Given the description of an element on the screen output the (x, y) to click on. 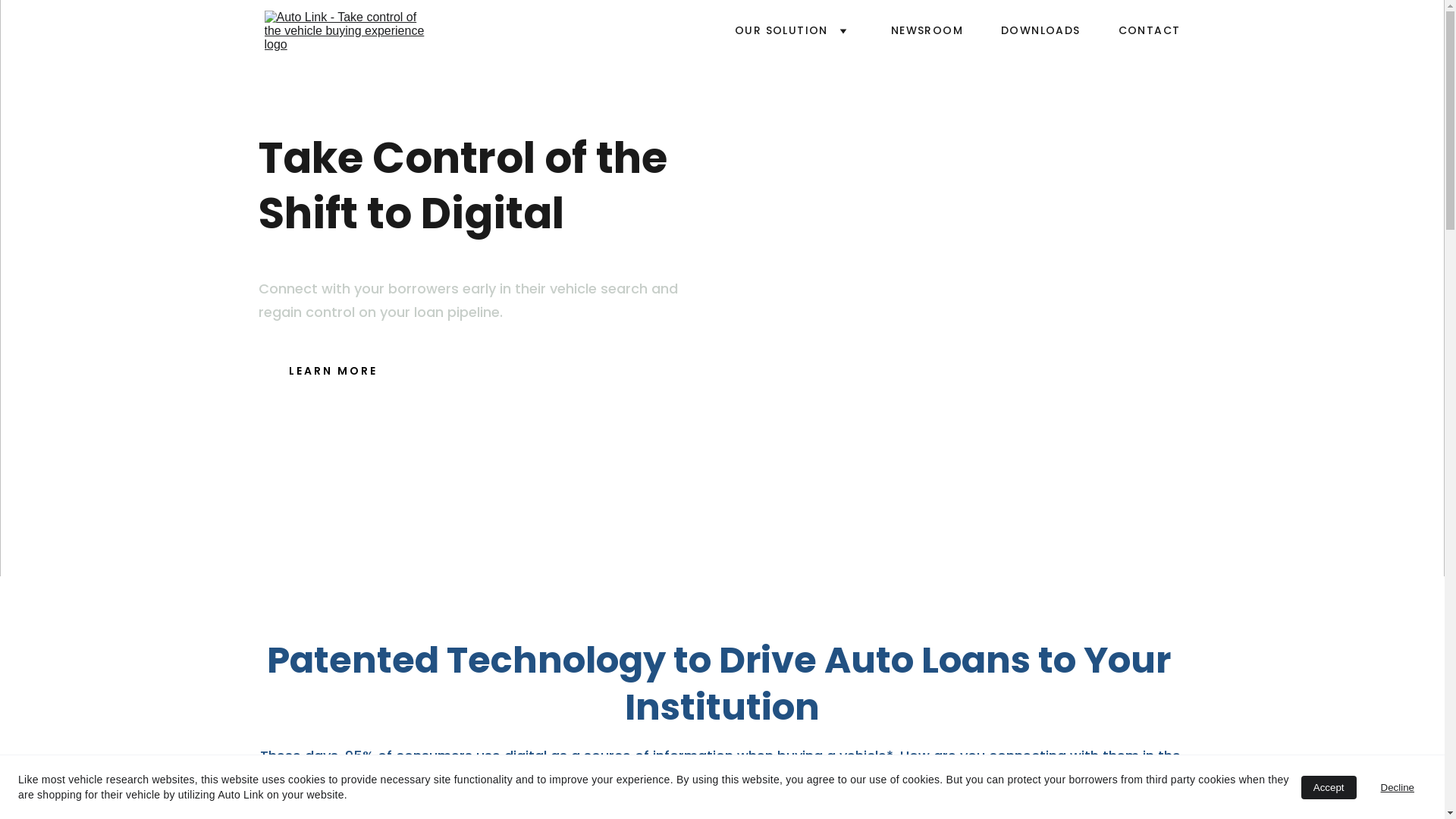
DOWNLOADS Element type: text (1040, 30)
CONTACT Element type: text (1149, 30)
OUR SOLUTION Element type: text (781, 30)
Decline Element type: text (1397, 786)
Accept Element type: text (1328, 786)
NEWSROOM Element type: text (927, 30)
LEARN MORE Element type: text (332, 370)
